Given the description of an element on the screen output the (x, y) to click on. 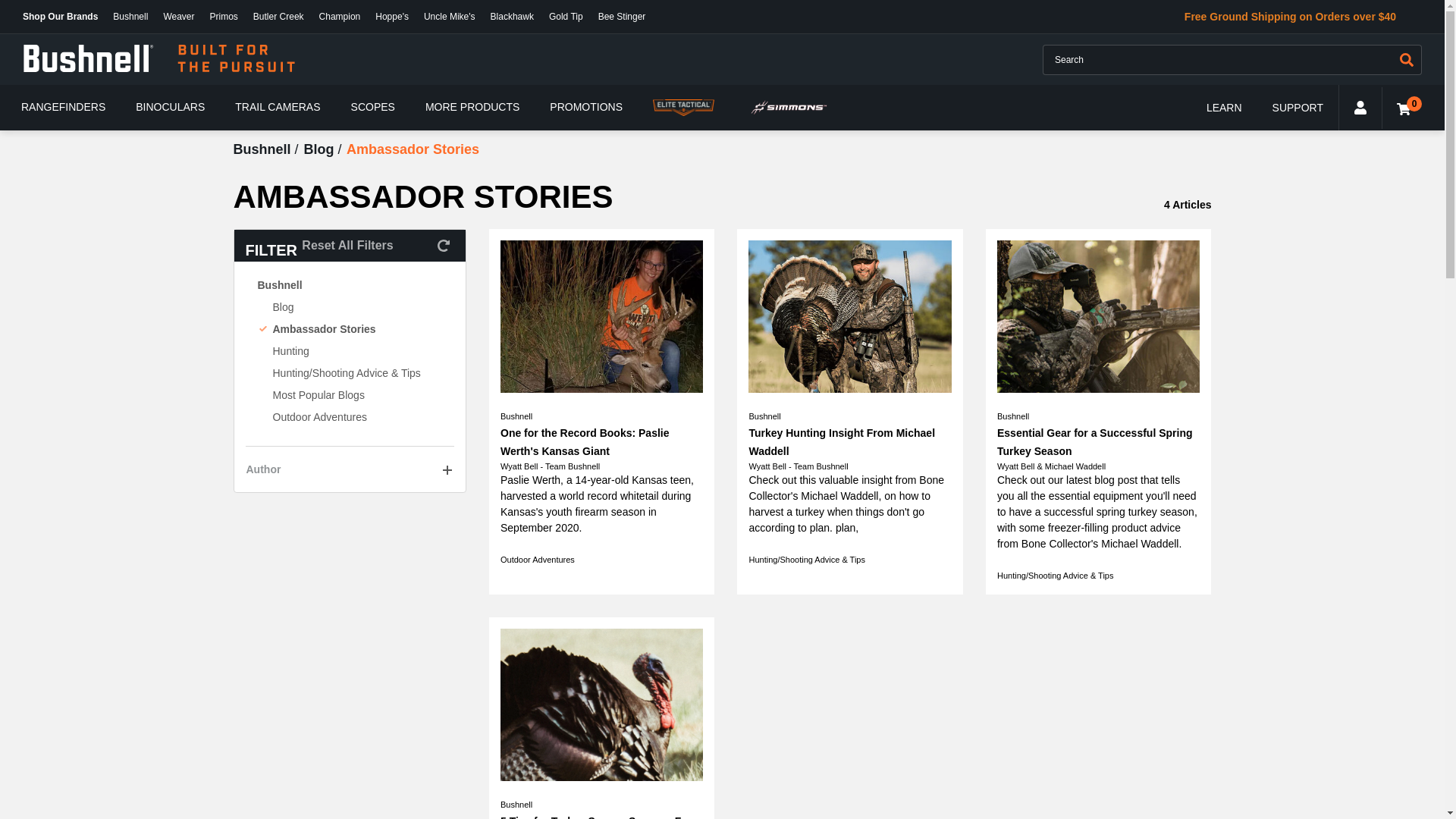
RANGEFINDERS (62, 107)
Blackhawk (512, 16)
Bee Stinger (622, 16)
Champion (339, 16)
BINOCULARS (170, 107)
Bushnell (129, 16)
Bushnell Home (159, 59)
Hoppe's (392, 16)
Butler Creek (278, 16)
Gold Tip (566, 16)
Uncle Mike's (449, 16)
Cart 0 Items (1401, 107)
Weaver (178, 16)
Primos (224, 16)
